Given the description of an element on the screen output the (x, y) to click on. 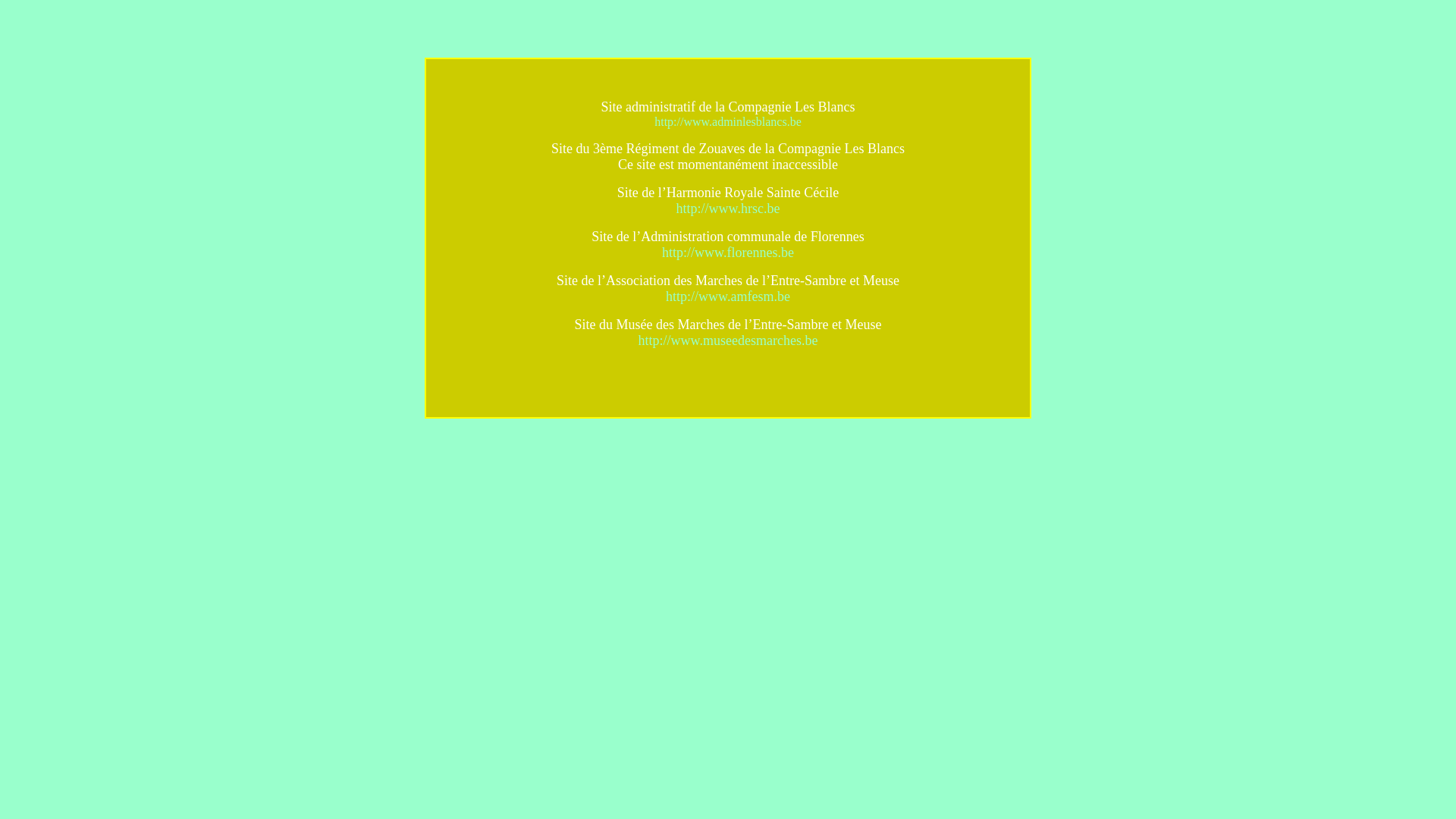
http://www.amfesm.be Element type: text (727, 296)
http://www.florennes.be Element type: text (727, 252)
http://www.adminlesblancs.be Element type: text (727, 121)
http://www.hrsc.be Element type: text (728, 208)
http://www.museedesmarches.be Element type: text (728, 340)
